Given the description of an element on the screen output the (x, y) to click on. 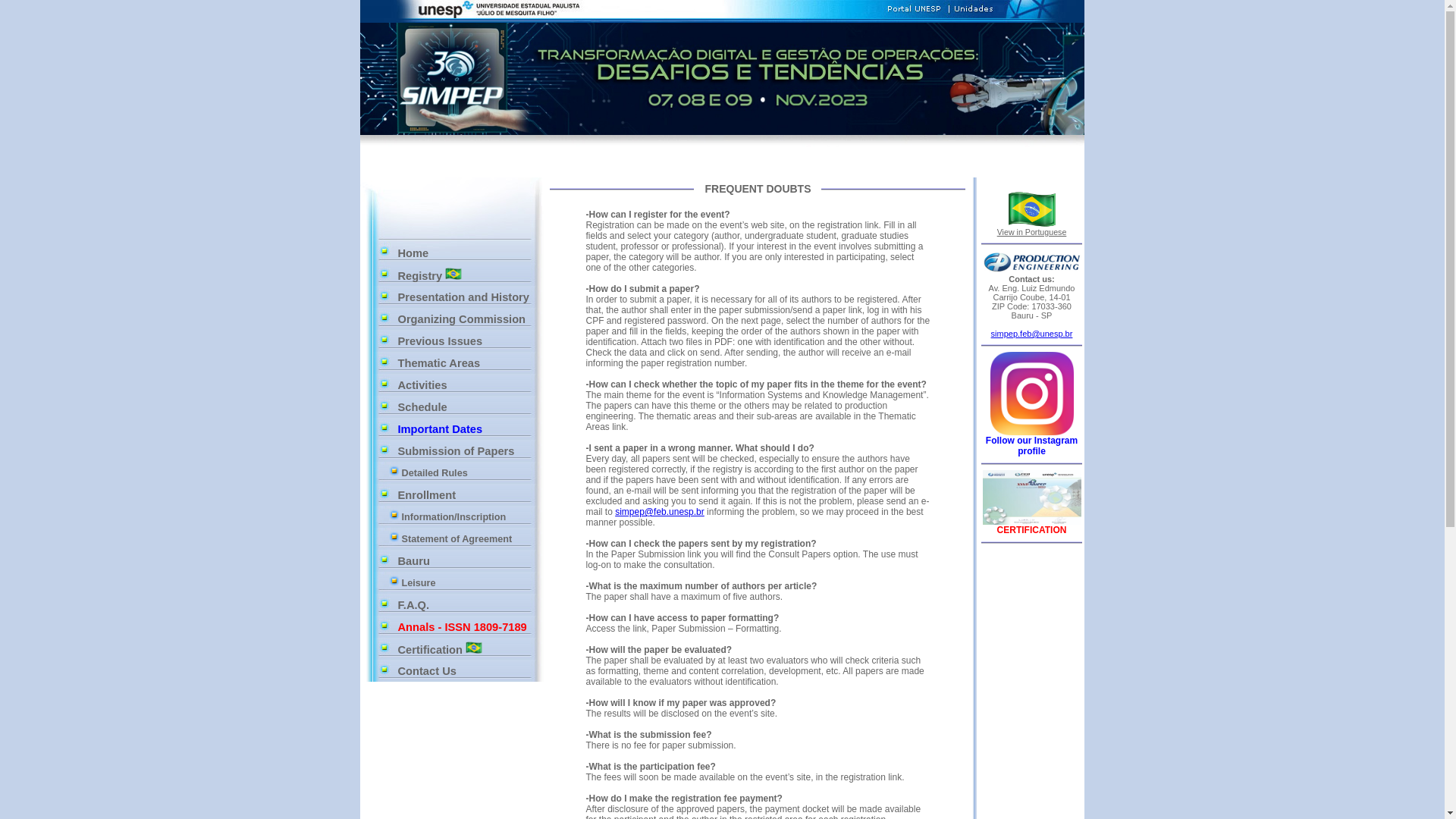
Activities Element type: text (465, 385)
Submission of Papers Element type: text (465, 450)
Follow our Instagram profile Element type: text (1031, 441)
CERTIFICATION Element type: text (1031, 529)
Leisure Element type: text (464, 582)
Presentation and History Element type: text (465, 297)
Important Dates Element type: text (465, 429)
Statement of Agreement Element type: text (464, 538)
Organizing Commission Element type: text (465, 318)
simpep@feb.unesp.br Element type: text (659, 511)
View in Portuguese Element type: text (1031, 218)
Certification Element type: text (465, 648)
Previous Issues Element type: text (465, 341)
F.A.Q. Element type: text (465, 605)
Thematic Areas Element type: text (465, 362)
Contact Us Element type: text (465, 670)
Information/Inscription Element type: text (464, 516)
simpep.feb@unesp.br Element type: text (1032, 333)
Home Element type: text (465, 253)
Detailed Rules Element type: text (464, 472)
Annals - ISSN 1809-7189 Element type: text (465, 626)
Bauru Element type: text (465, 561)
Schedule Element type: text (465, 406)
Enrollment Element type: text (465, 494)
Registry Element type: text (465, 274)
